Given the description of an element on the screen output the (x, y) to click on. 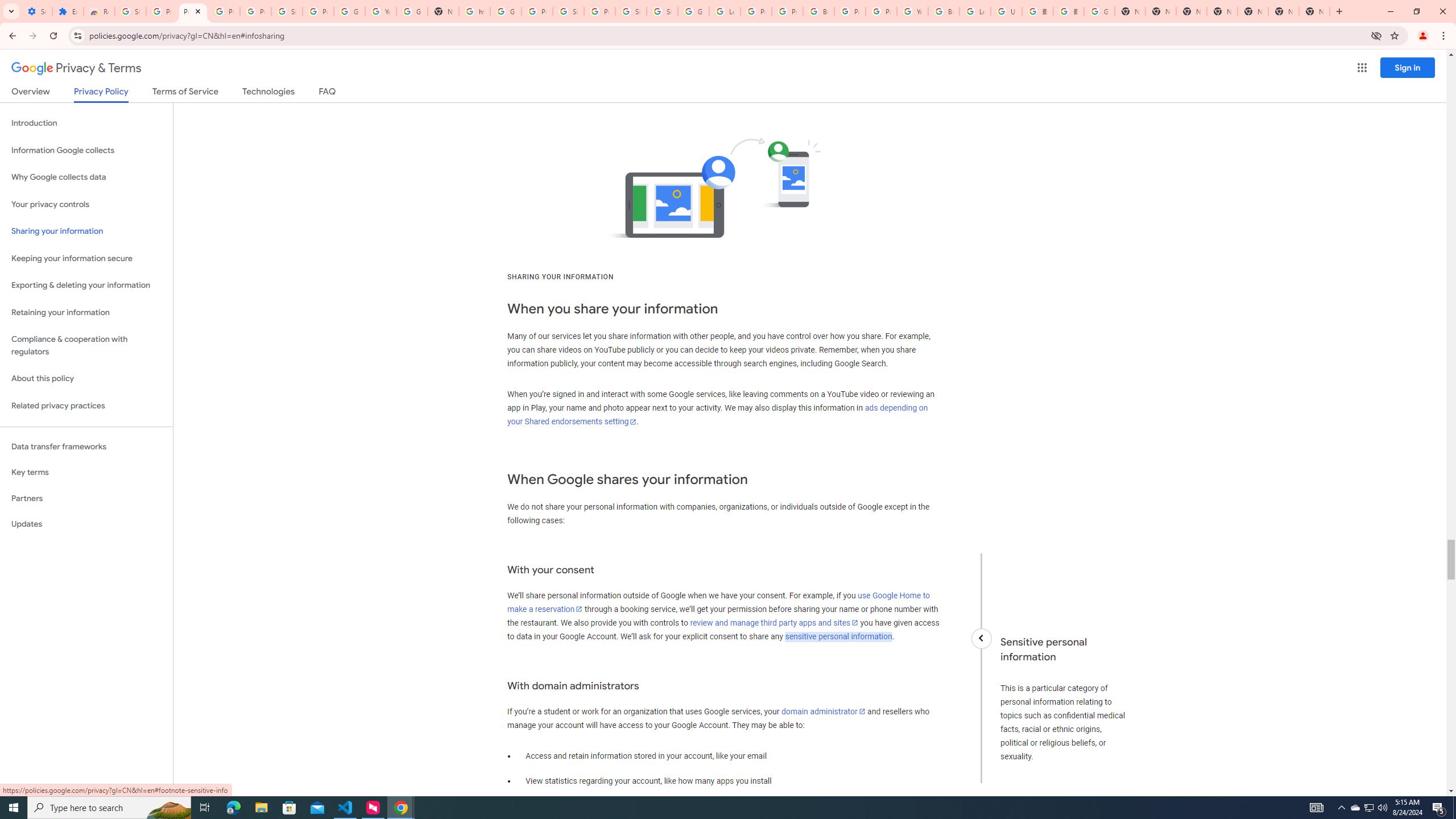
Information Google collects (86, 150)
Google Images (1098, 11)
Retaining your information (86, 312)
Overview (30, 93)
use Google Home to make a reservation (718, 602)
